Given the description of an element on the screen output the (x, y) to click on. 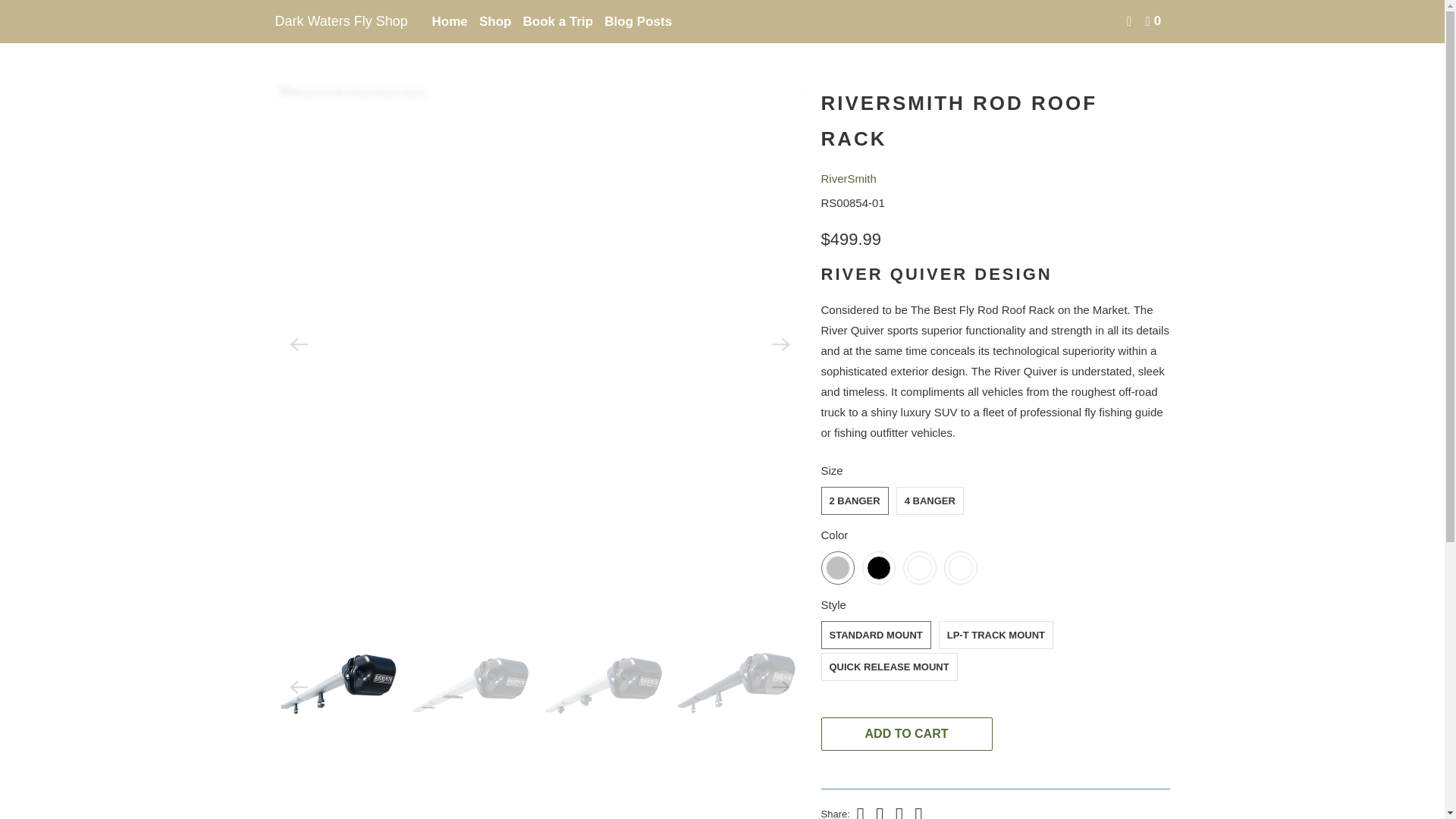
Dark Waters Fly Shop (288, 30)
Book a Trip (557, 21)
0 (1154, 21)
Blog Posts (638, 21)
Home (288, 30)
Shop (495, 21)
Home (449, 21)
Products (333, 30)
Products (333, 30)
Dark Waters Fly Shop (342, 21)
Dark Waters Fly Shop (342, 21)
